Given the description of an element on the screen output the (x, y) to click on. 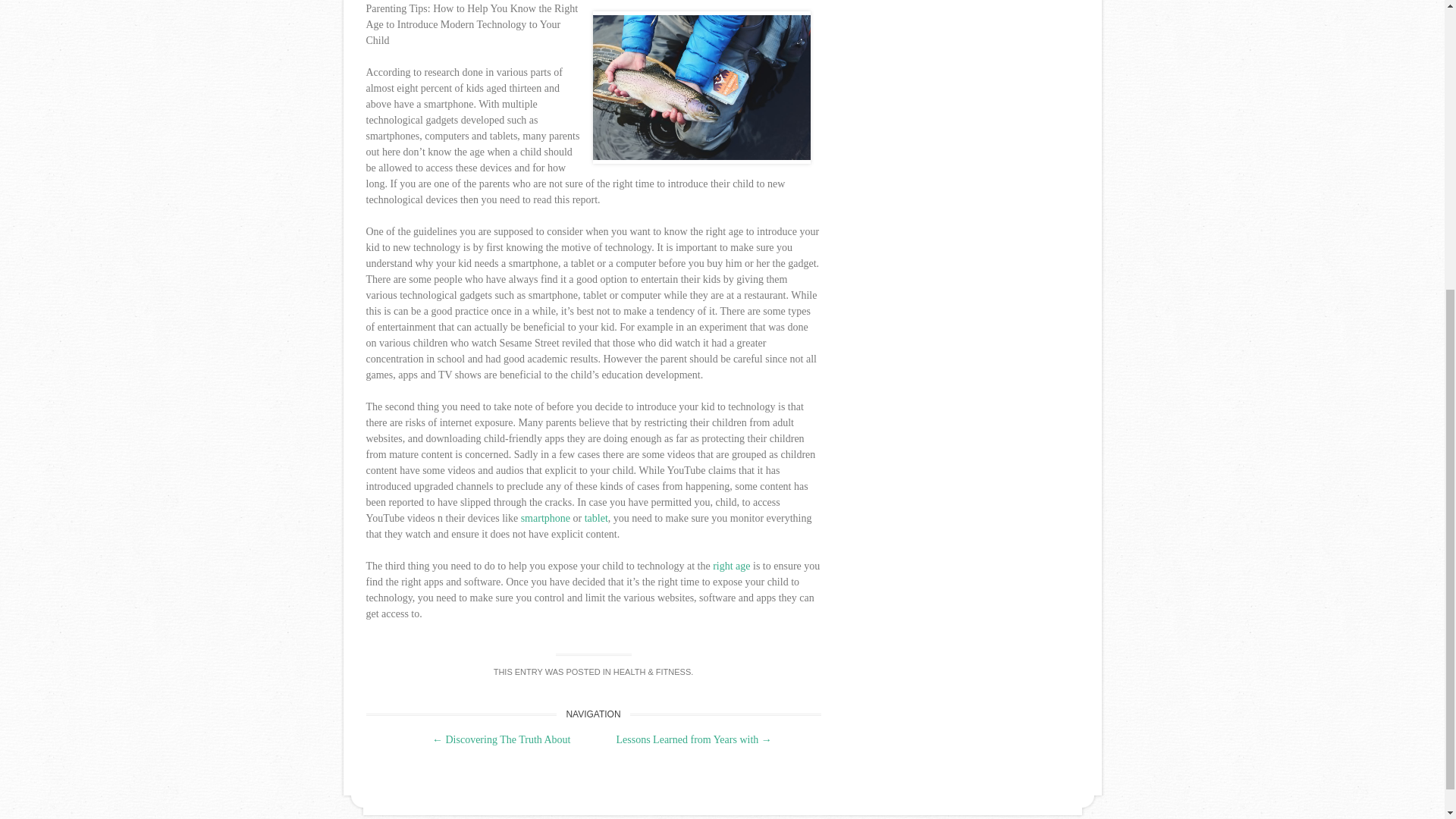
smartphone (545, 517)
right age (731, 565)
tablet (596, 517)
